Given the description of an element on the screen output the (x, y) to click on. 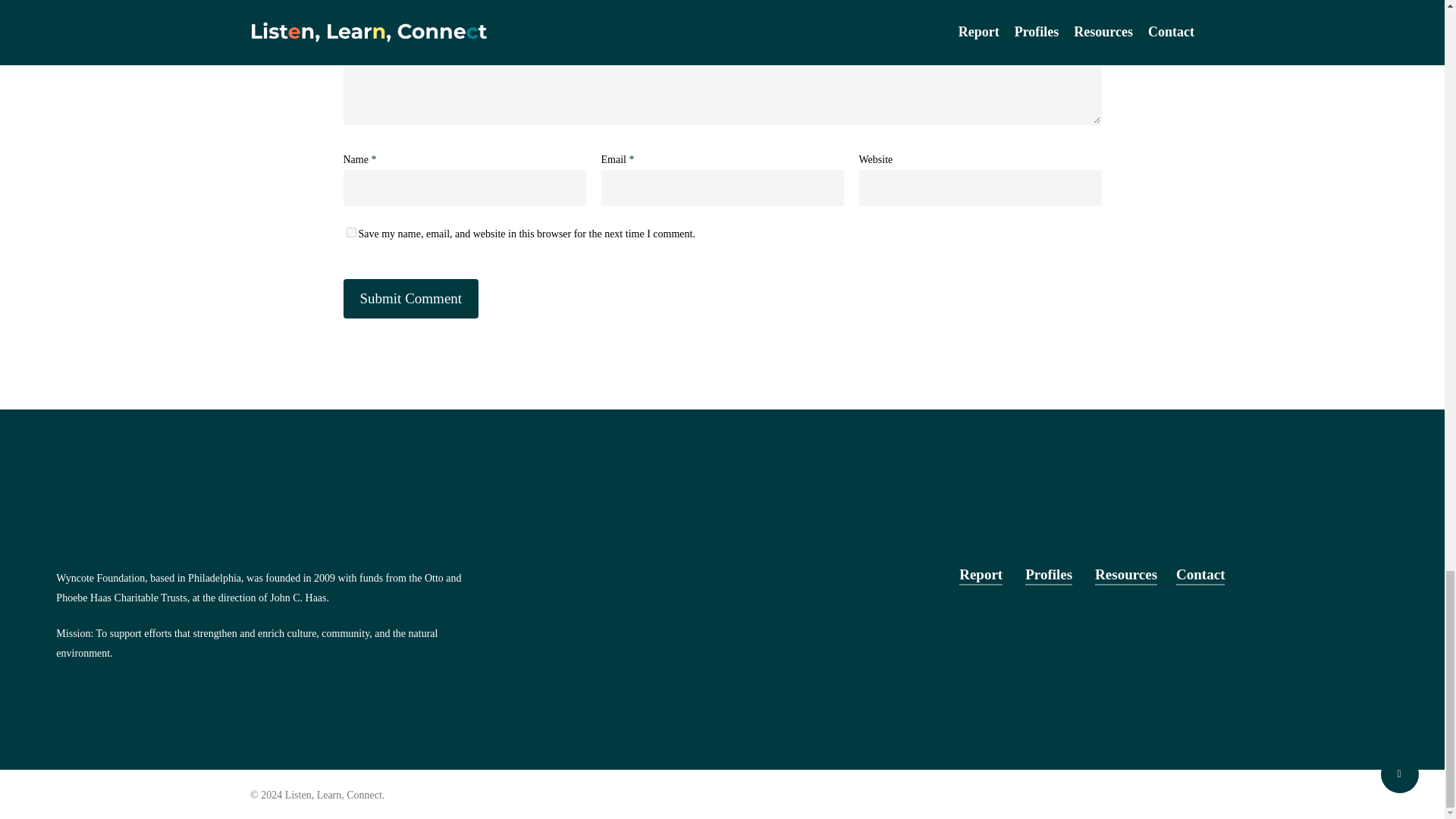
Profiles (1048, 574)
Resources (1125, 574)
yes (350, 232)
Report (981, 574)
Contact (1200, 574)
Submit Comment (410, 298)
Submit Comment (410, 298)
